Given the description of an element on the screen output the (x, y) to click on. 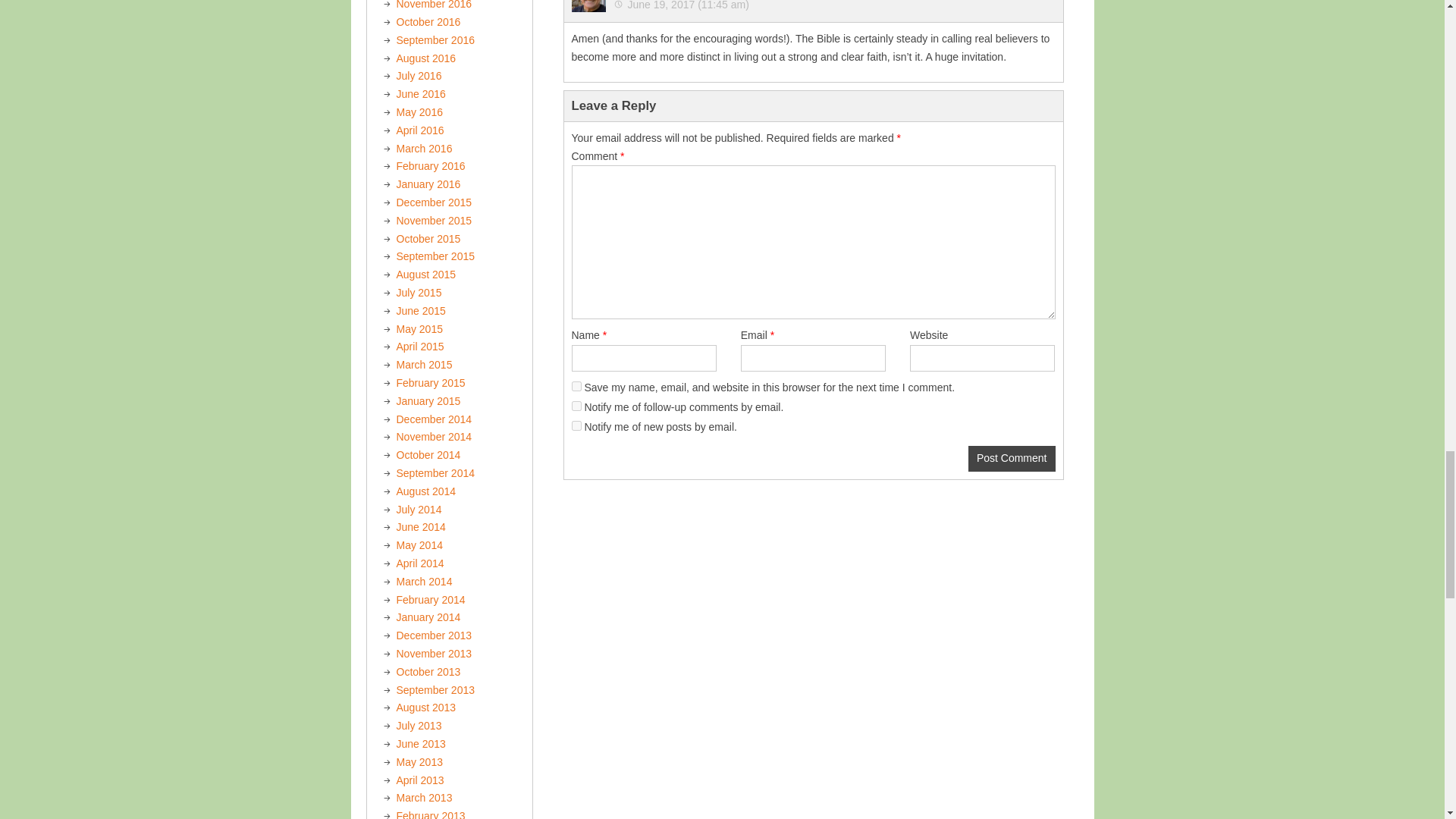
Post Comment (1011, 458)
subscribe (576, 425)
yes (576, 386)
subscribe (576, 406)
Post Comment (1011, 458)
